Given the description of an element on the screen output the (x, y) to click on. 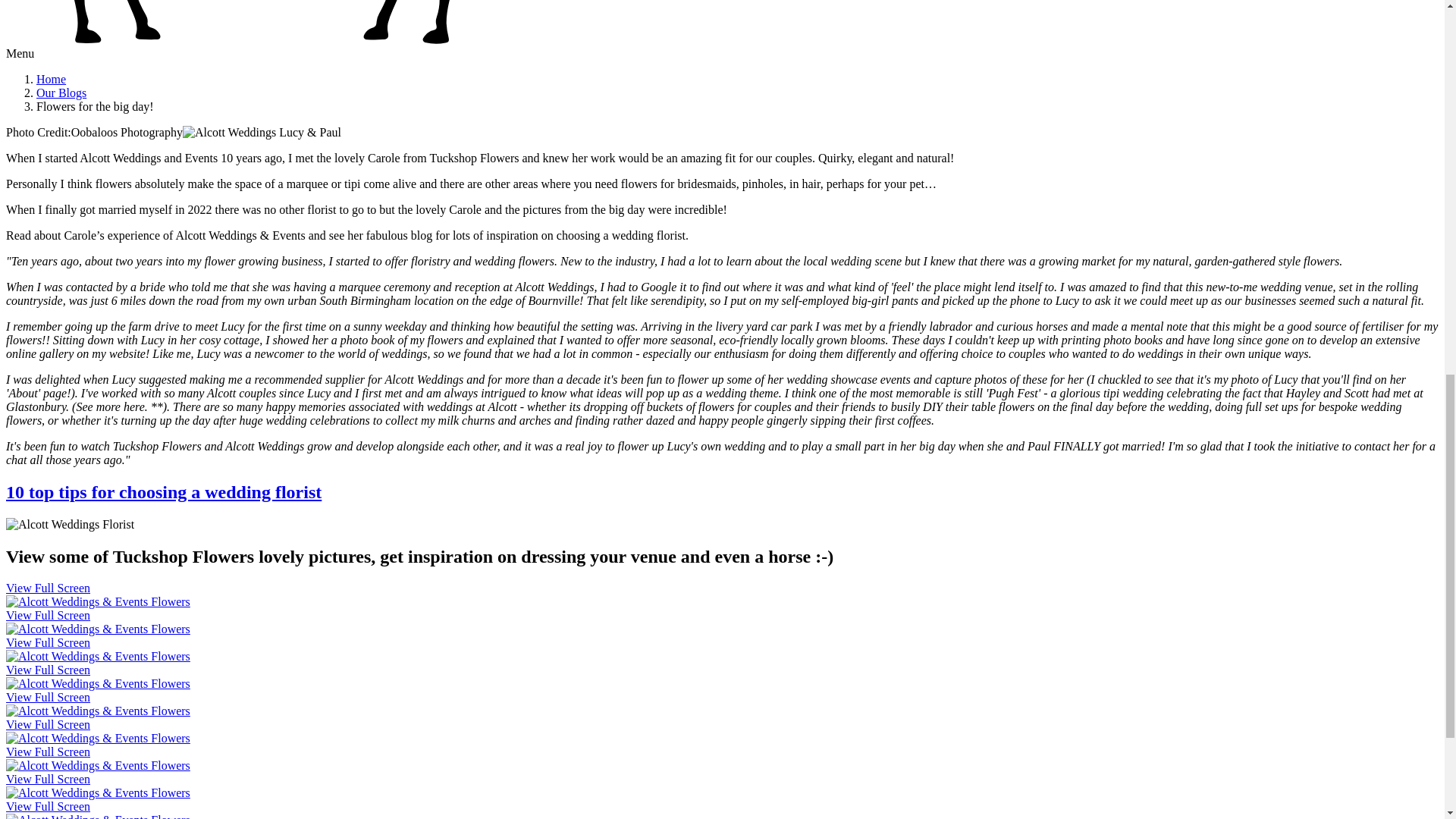
Home (50, 78)
Our Blogs (60, 92)
10 top tips for choosing a wedding florist (163, 492)
